Given the description of an element on the screen output the (x, y) to click on. 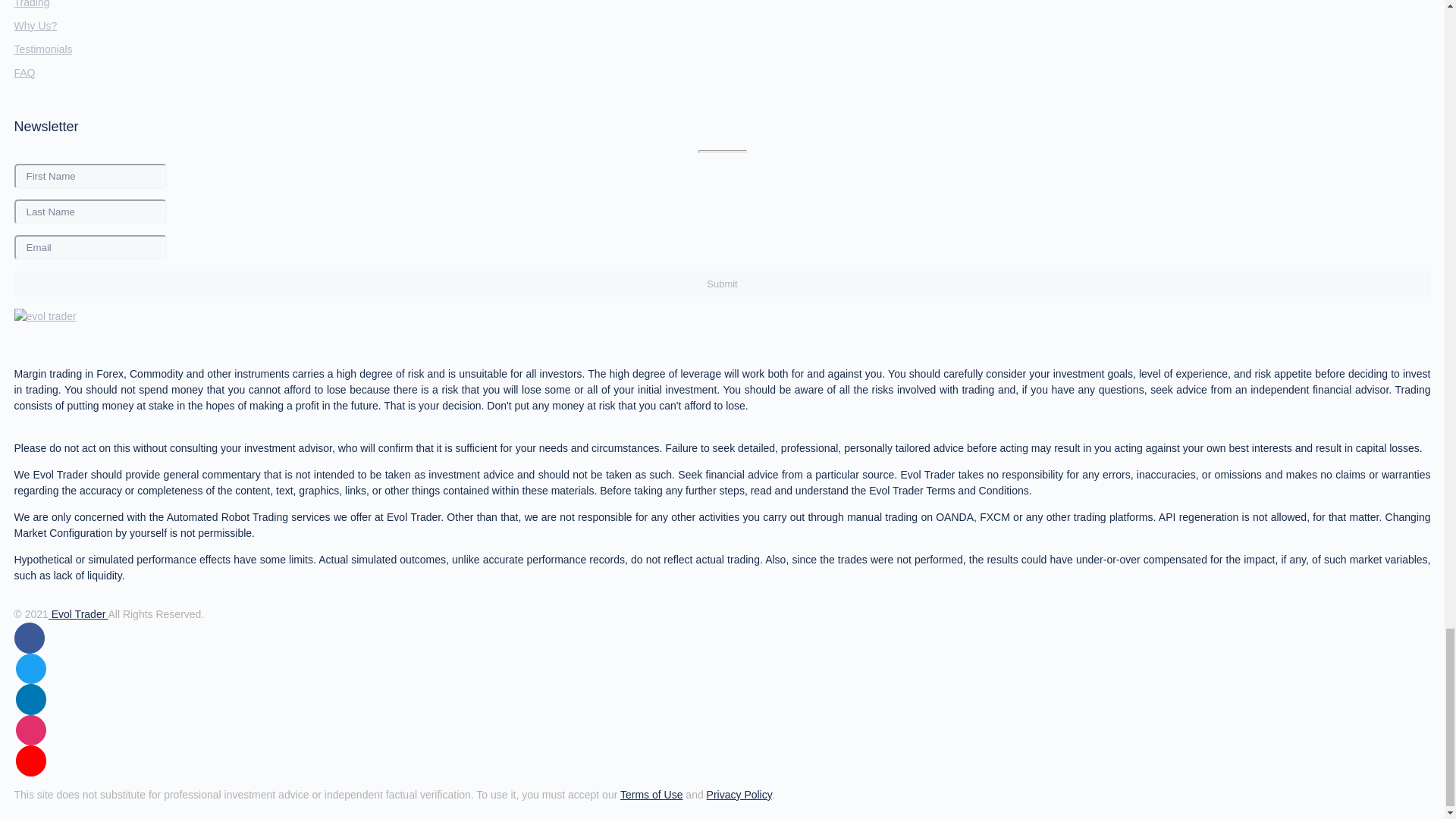
Privacy Policy (738, 794)
Evol Trader (77, 613)
Submit (721, 284)
FAQ (23, 72)
Trading (31, 4)
Testimonials (42, 49)
Terms of Use (651, 794)
Why Us? (34, 25)
